Given the description of an element on the screen output the (x, y) to click on. 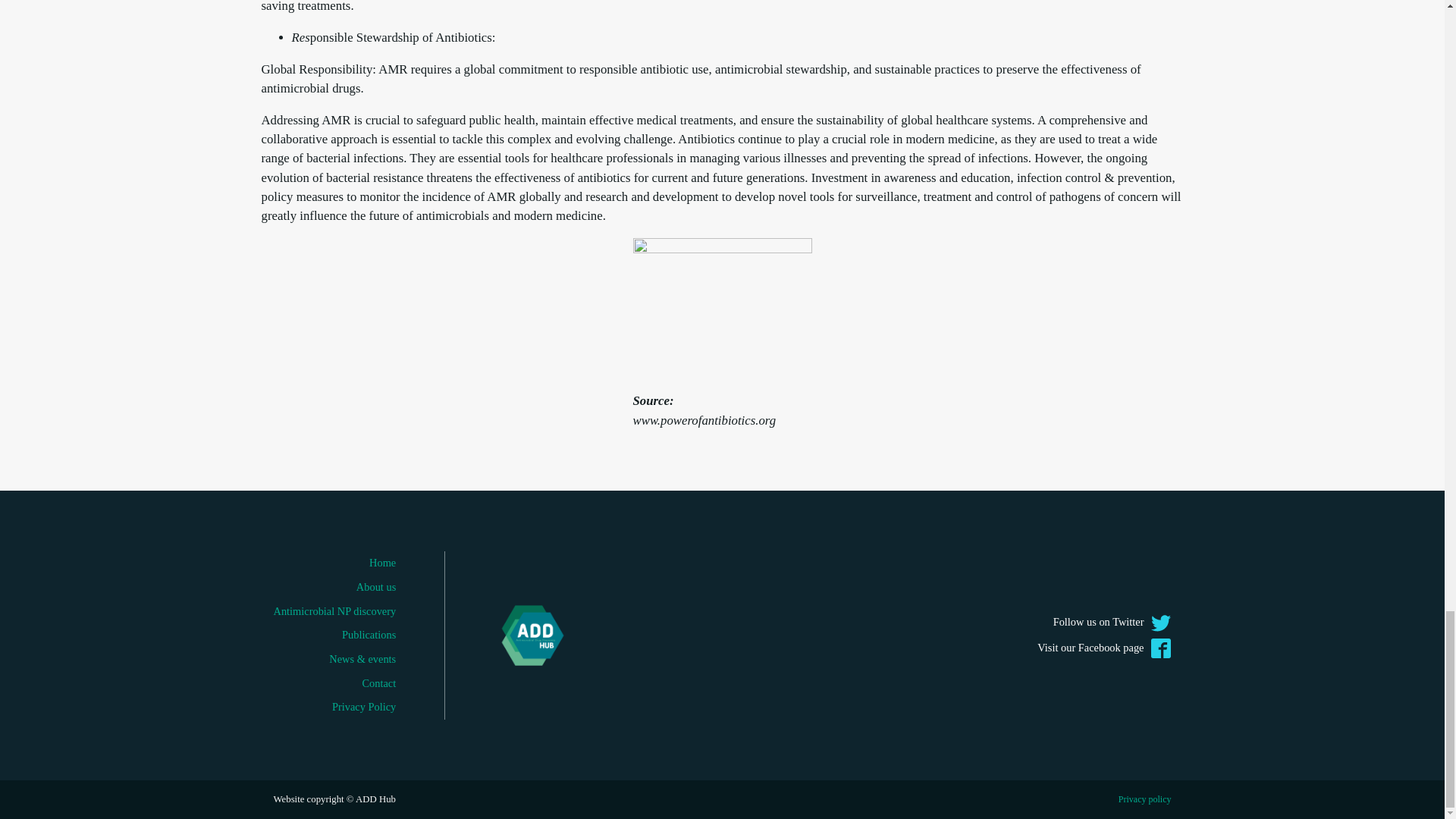
Publications (334, 635)
About us (334, 587)
Privacy policy (1145, 798)
Antimicrobial NP discovery (334, 611)
Privacy Policy (334, 707)
Contact (334, 683)
Home (334, 563)
